Given the description of an element on the screen output the (x, y) to click on. 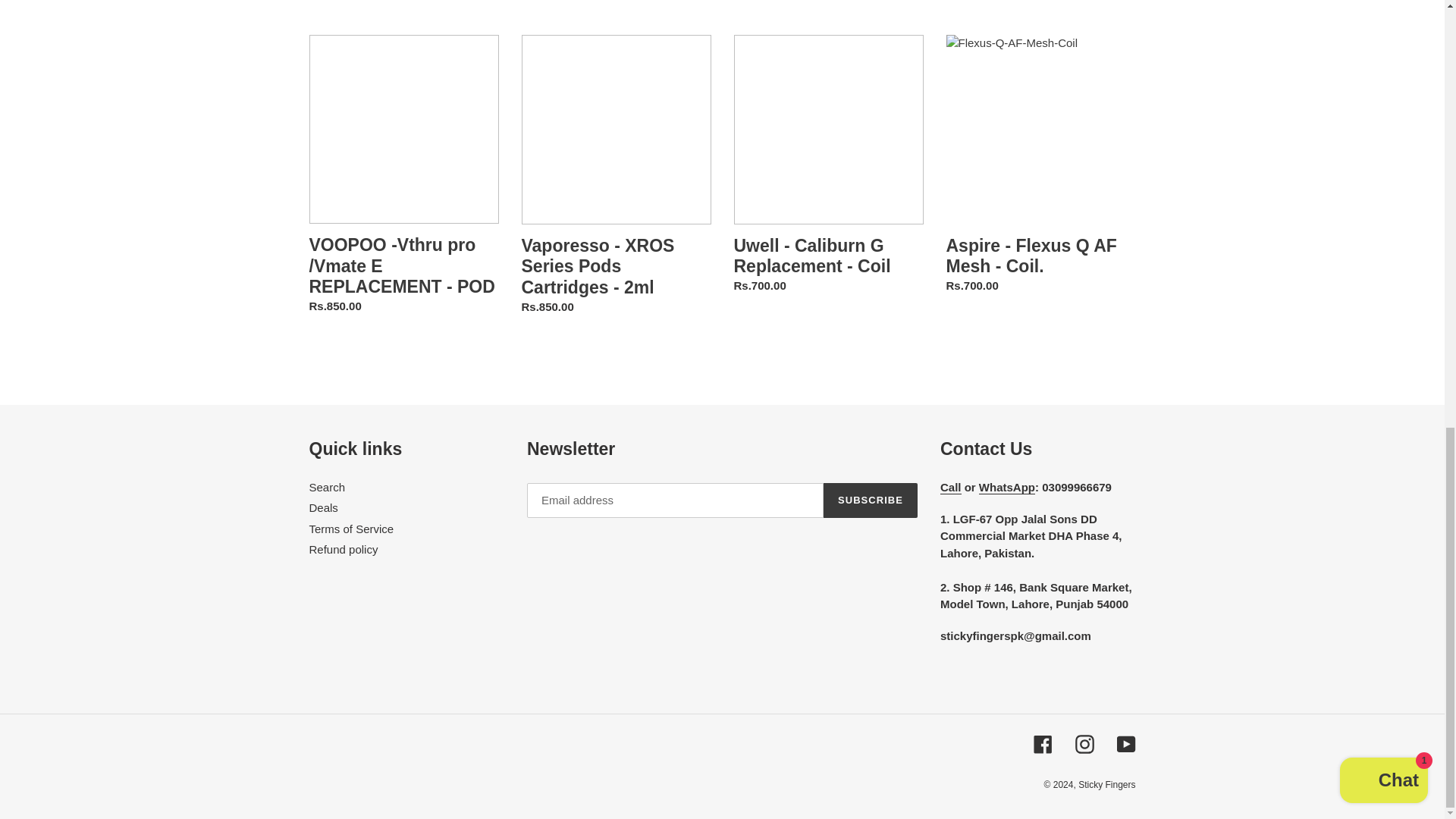
tel:03099966679 (950, 487)
